Given the description of an element on the screen output the (x, y) to click on. 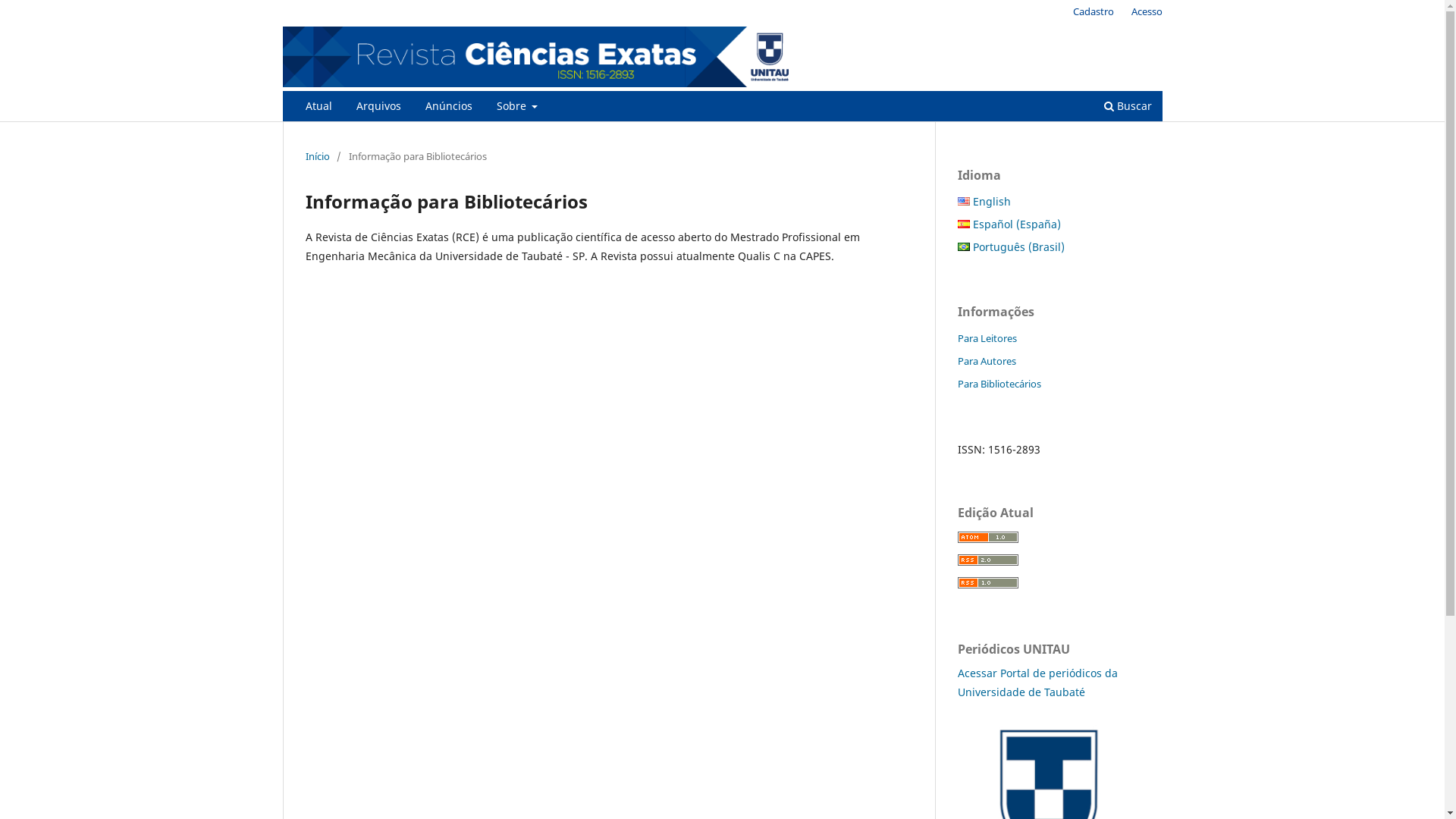
Cadastro Element type: text (1093, 11)
Para Autores Element type: text (986, 360)
Buscar Element type: text (1127, 107)
Para Leitores Element type: text (986, 338)
Arquivos Element type: text (377, 107)
English Element type: text (983, 201)
English Element type: hover (963, 201)
Sobre Element type: text (517, 107)
Acesso Element type: text (1146, 11)
Atual Element type: text (318, 107)
